Given the description of an element on the screen output the (x, y) to click on. 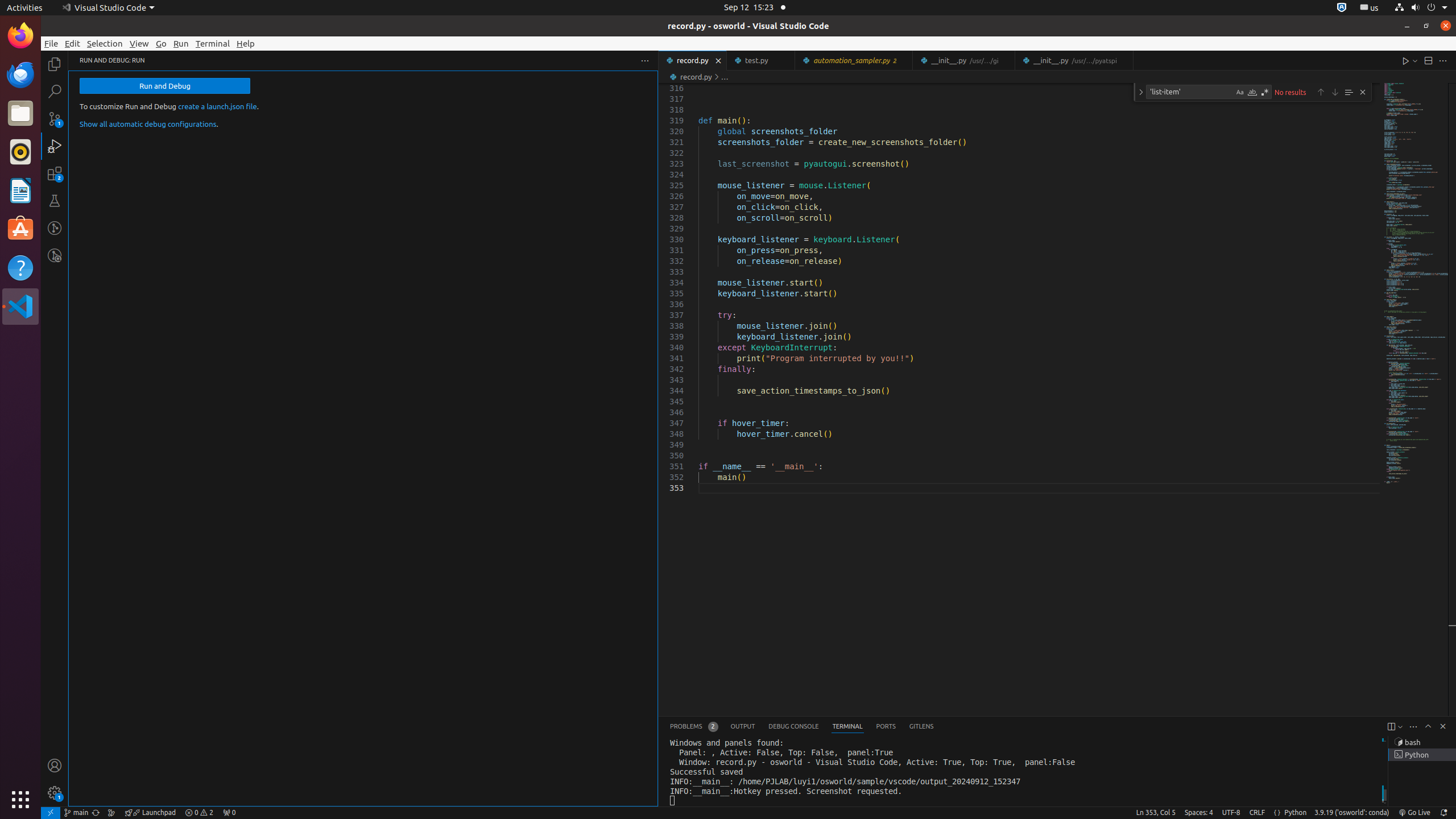
File Element type: push-button (50, 43)
No Ports Forwarded Element type: push-button (228, 812)
Problems (Ctrl+Shift+M) - Total 2 Problems Element type: page-tab (693, 726)
Close (Ctrl+W) Element type: push-button (1124, 60)
